Given the description of an element on the screen output the (x, y) to click on. 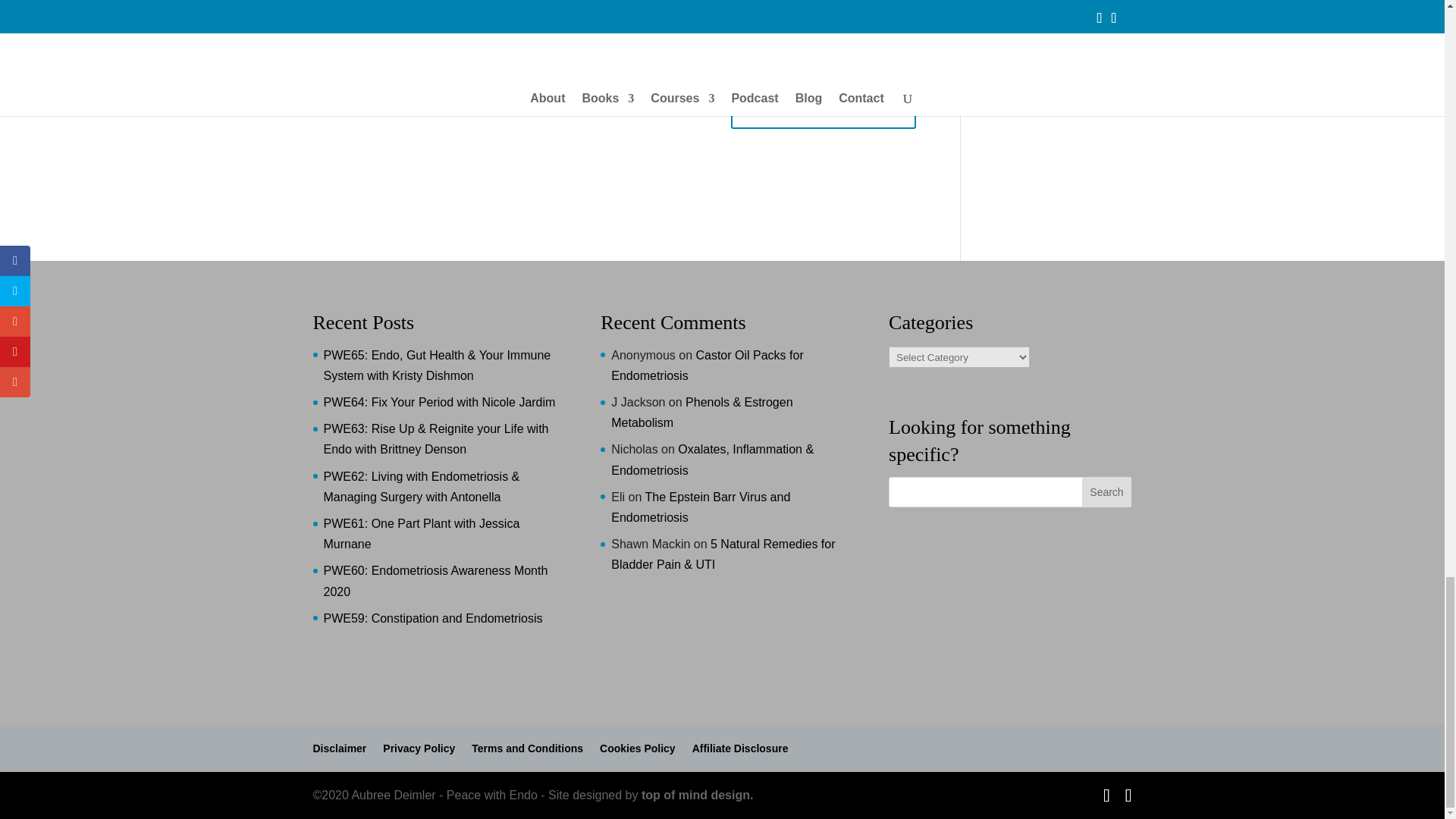
Search (1106, 491)
subscribe (319, 2)
Castor Oil Packs for Endometriosis (707, 365)
subscribe (319, 49)
Submit Comment (822, 107)
PWE60: Endometriosis Awareness Month 2020 (435, 580)
Cookies Policy (637, 748)
The Epstein Barr Virus and Endometriosis (700, 507)
PWE64: Fix Your Period with Nicole Jardim (438, 401)
Submit Comment (822, 107)
